Given the description of an element on the screen output the (x, y) to click on. 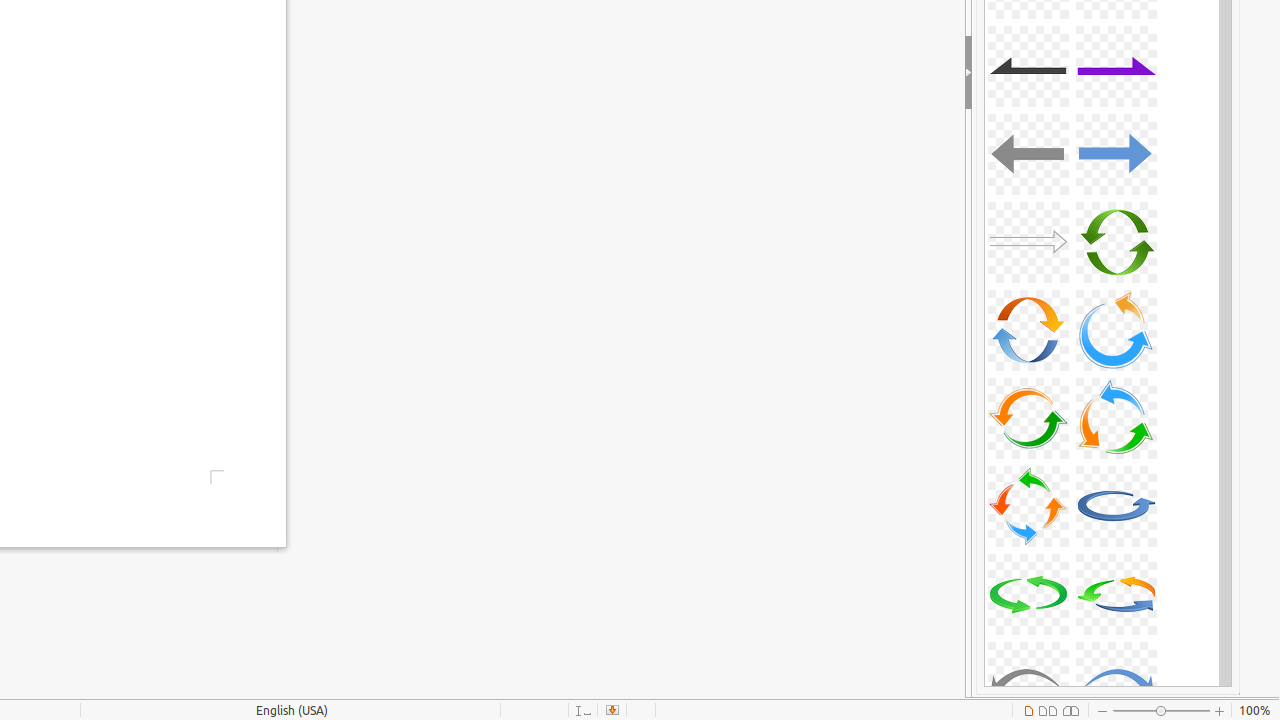
A18-CircleArrow Element type: list-item (1116, 417)
A15-CircleArrow Element type: list-item (1028, 330)
A19-CircleArrow Element type: list-item (1028, 506)
A21-CircleArrow-Green Element type: list-item (1028, 594)
A13-Arrow-Gray-Right Element type: list-item (1028, 242)
